Given the description of an element on the screen output the (x, y) to click on. 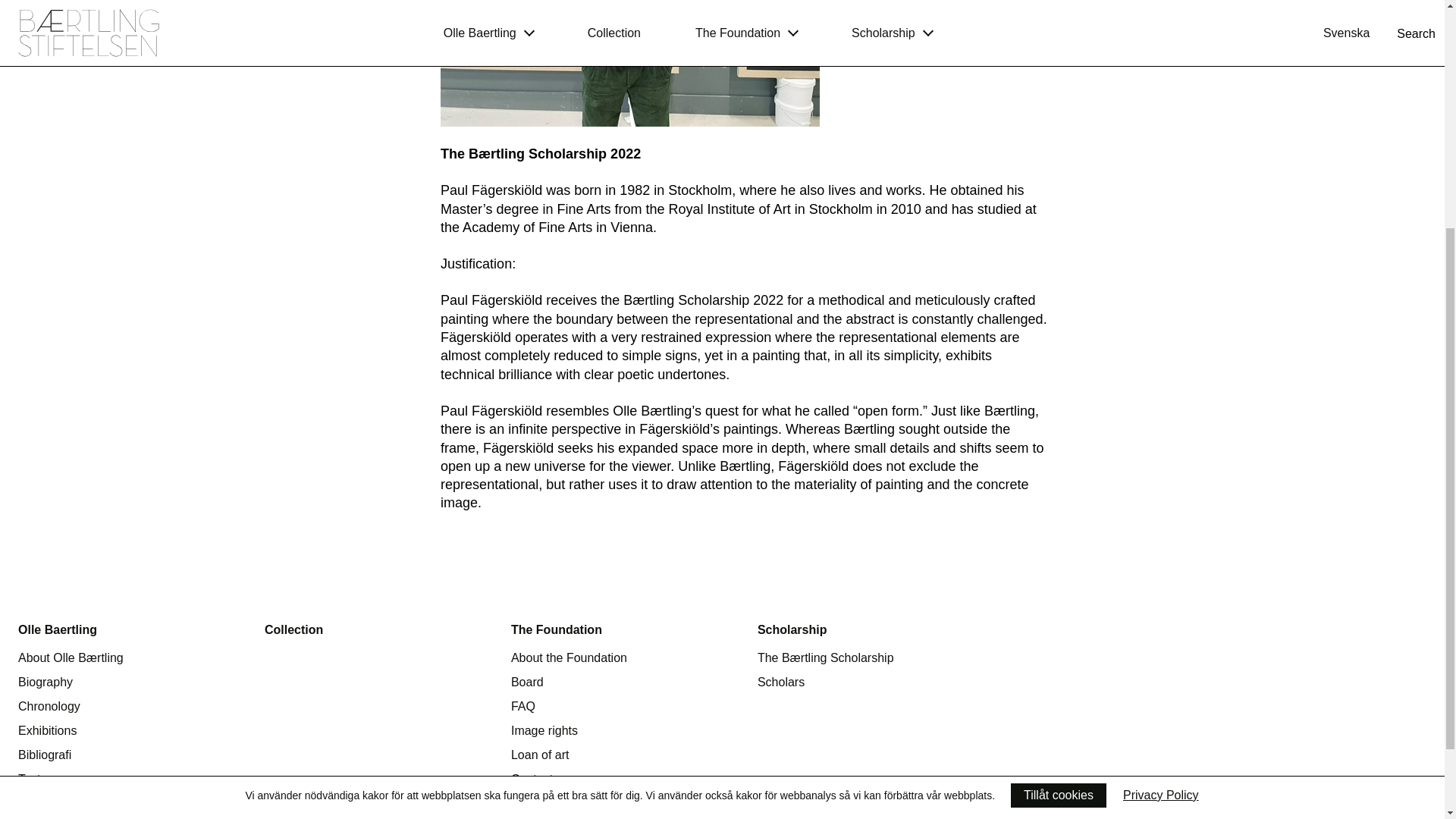
About the Foundation (569, 657)
The Foundation (556, 629)
FAQ (523, 706)
Exhibitions (47, 730)
Collection (293, 629)
Texts (31, 779)
Biography (44, 681)
Loan of art (540, 754)
Archives and research (77, 802)
Chronology (48, 706)
